Given the description of an element on the screen output the (x, y) to click on. 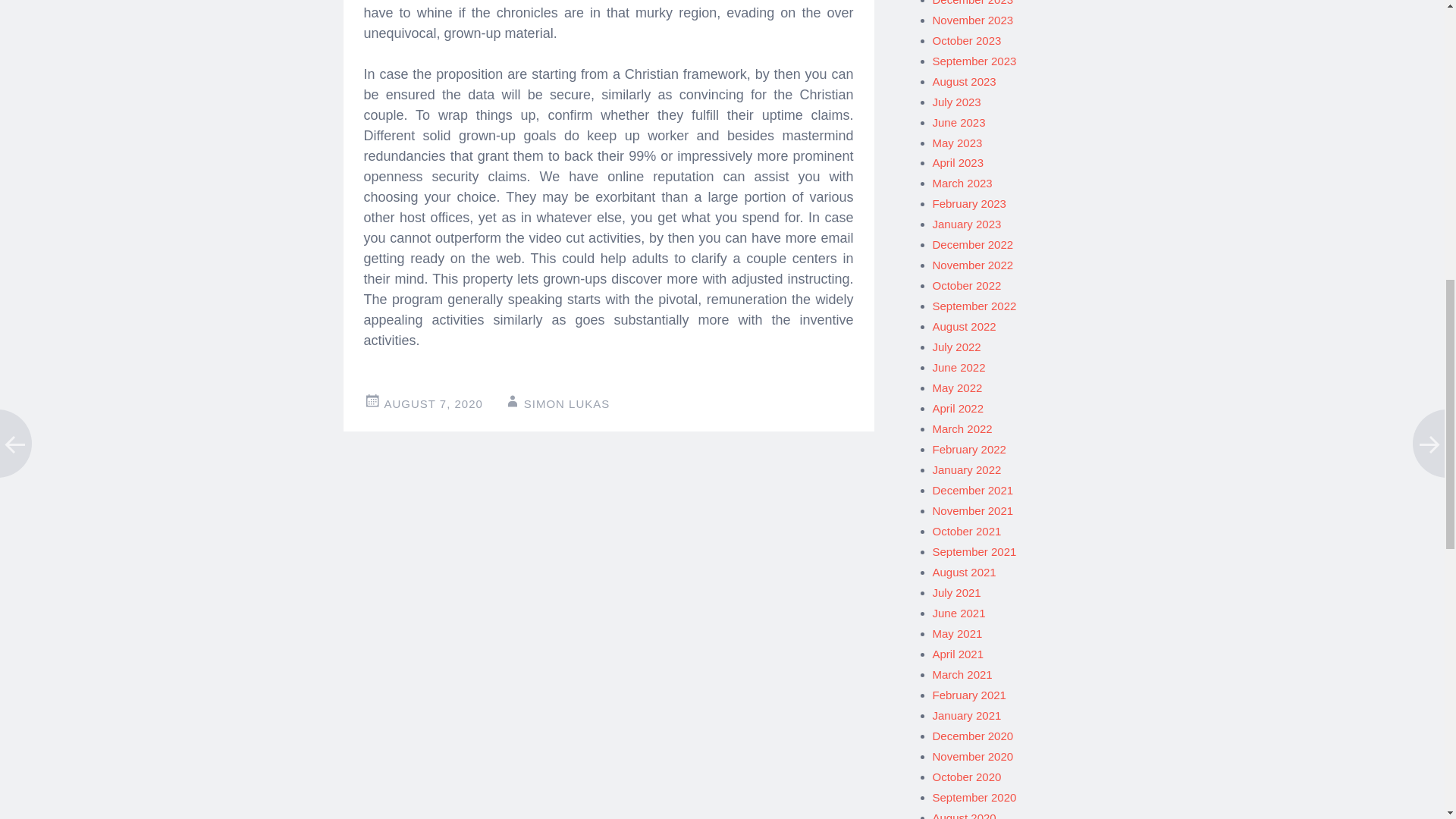
December 2023 (973, 2)
March 2023 (962, 182)
April 2023 (958, 162)
August 2023 (964, 81)
September 2023 (974, 60)
November 2023 (973, 19)
AUGUST 7, 2020 (432, 403)
December 2022 (973, 244)
June 2023 (959, 122)
February 2023 (969, 203)
SIMON LUKAS (567, 403)
November 2022 (973, 264)
View all posts by Simon Lukas (567, 403)
7:57 am (432, 403)
May 2023 (957, 142)
